Given the description of an element on the screen output the (x, y) to click on. 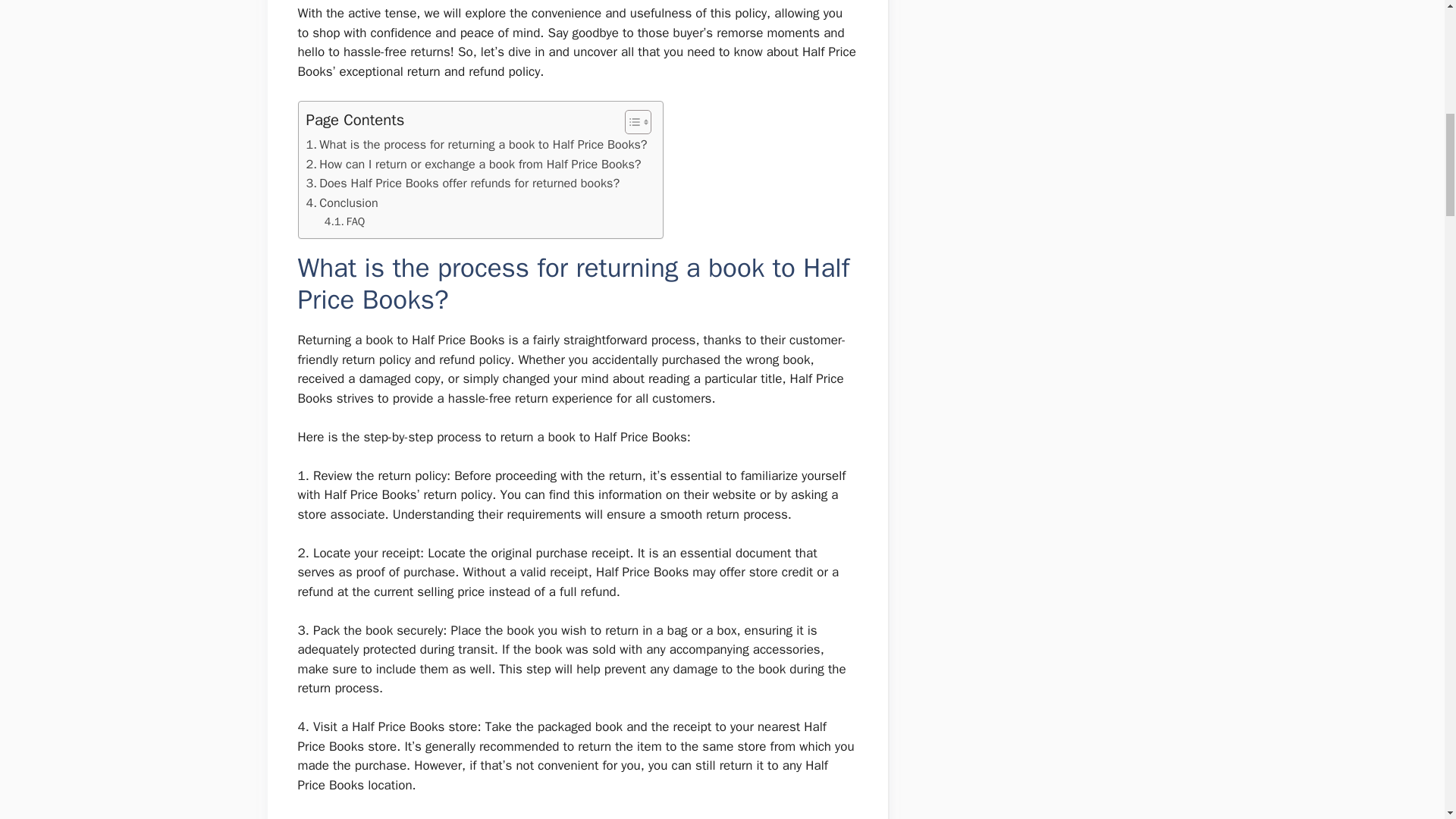
How can I return or exchange a book from Half Price Books? (473, 164)
FAQ (344, 221)
Does Half Price Books offer refunds for returned books? (462, 183)
How can I return or exchange a book from Half Price Books? (473, 164)
Conclusion (341, 202)
Does Half Price Books offer refunds for returned books? (462, 183)
FAQ (344, 221)
Conclusion (341, 202)
